Given the description of an element on the screen output the (x, y) to click on. 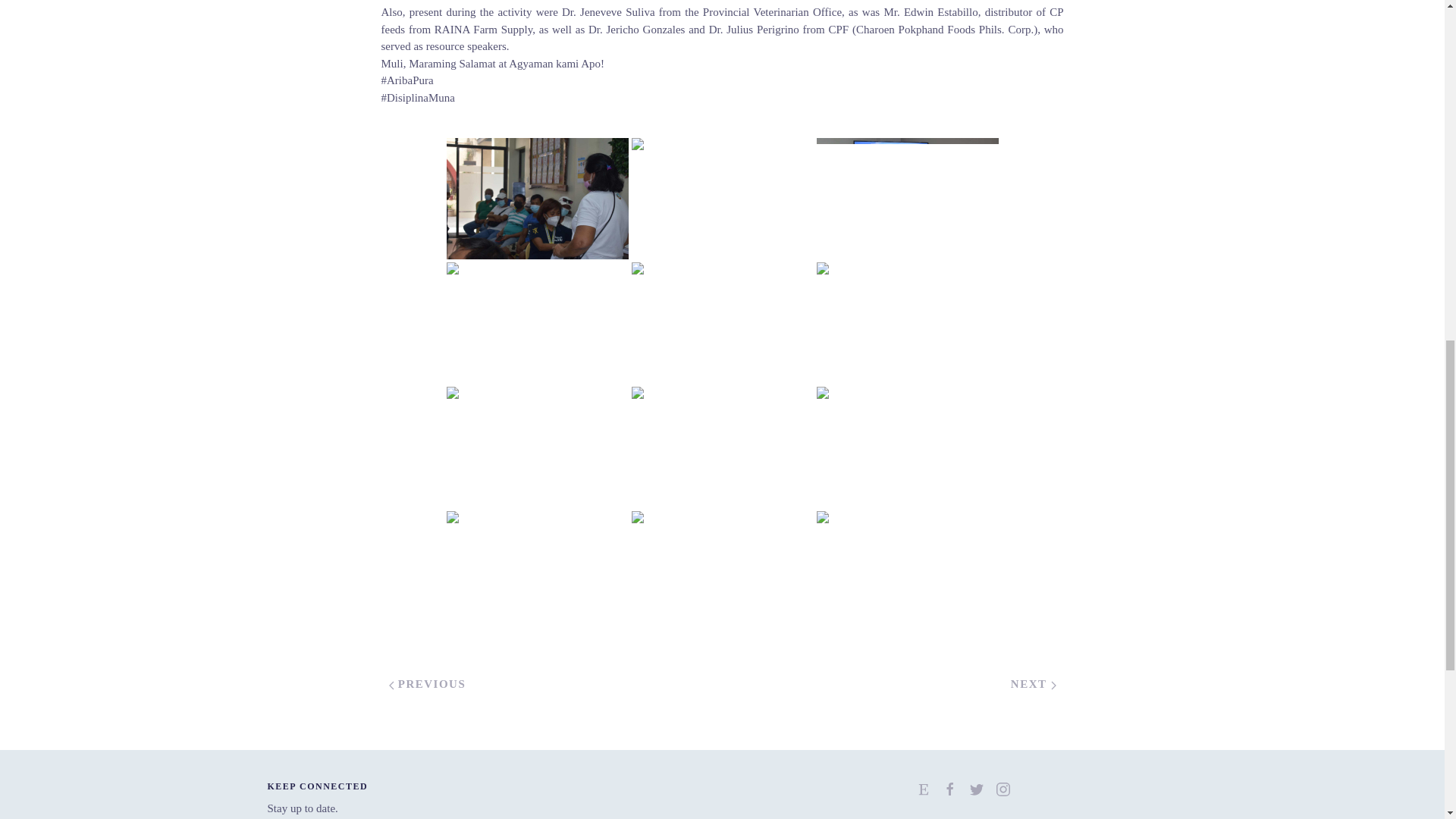
9 (536, 323)
7 (906, 323)
11 (906, 198)
12 (536, 446)
6 (536, 198)
10 (721, 198)
8 (721, 323)
